Given the description of an element on the screen output the (x, y) to click on. 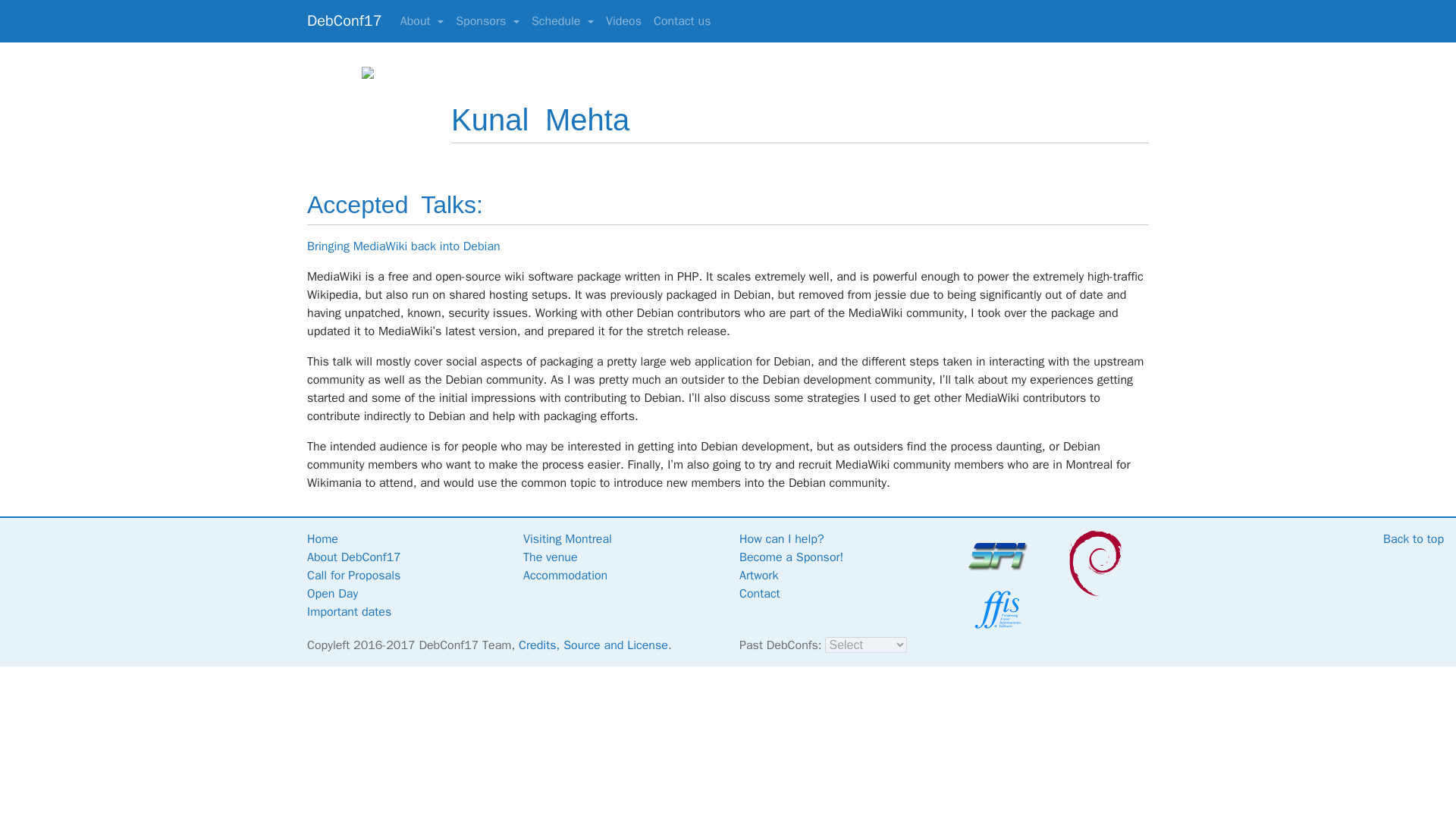
Credits, Source and License (593, 645)
About (421, 20)
Contact (759, 593)
How can I help? (781, 539)
Videos (623, 20)
Contact us (681, 20)
Back to top (1413, 539)
Kunal Mehta (539, 119)
Accommodation (564, 575)
The venue (550, 557)
Home (322, 539)
Call for Proposals (353, 575)
Bringing MediaWiki back into Debian (403, 246)
Open Day (332, 593)
Important dates (349, 611)
